Given the description of an element on the screen output the (x, y) to click on. 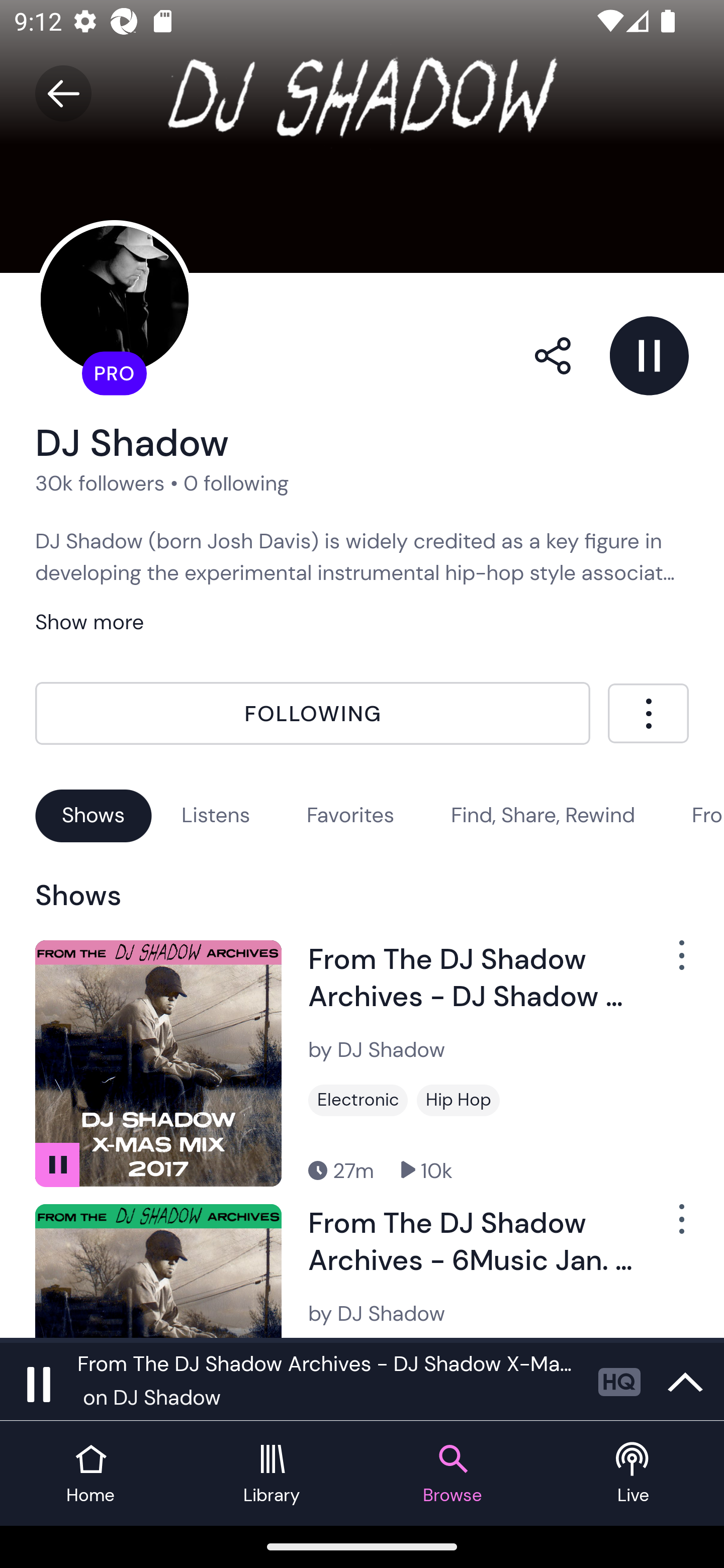
30k followers (100, 482)
0 following (235, 482)
Following FOLLOWING (312, 713)
More Menu (648, 713)
Shows (93, 815)
Listens (215, 815)
Favorites (350, 815)
Find, Share, Rewind (543, 815)
From the DJ Shadow Archives (708, 815)
Show Options Menu Button (670, 963)
Electronic (357, 1100)
Hip Hop (458, 1100)
Show Options Menu Button (670, 1226)
Home tab Home (90, 1473)
Library tab Library (271, 1473)
Browse tab Browse (452, 1473)
Live tab Live (633, 1473)
